Given the description of an element on the screen output the (x, y) to click on. 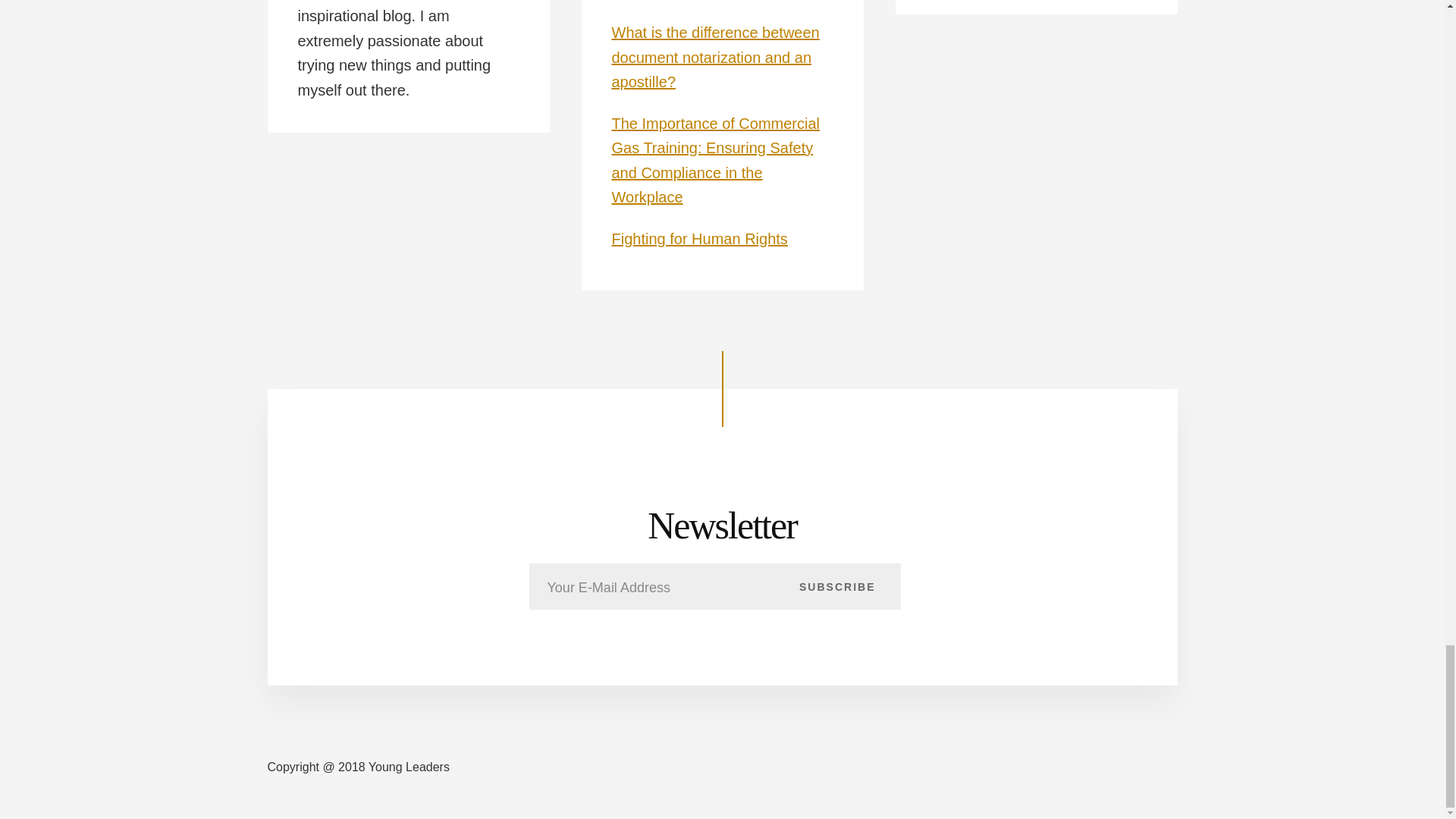
Fighting for Human Rights (699, 238)
SUBSCRIBE (837, 586)
SUBSCRIBE (837, 586)
